Given the description of an element on the screen output the (x, y) to click on. 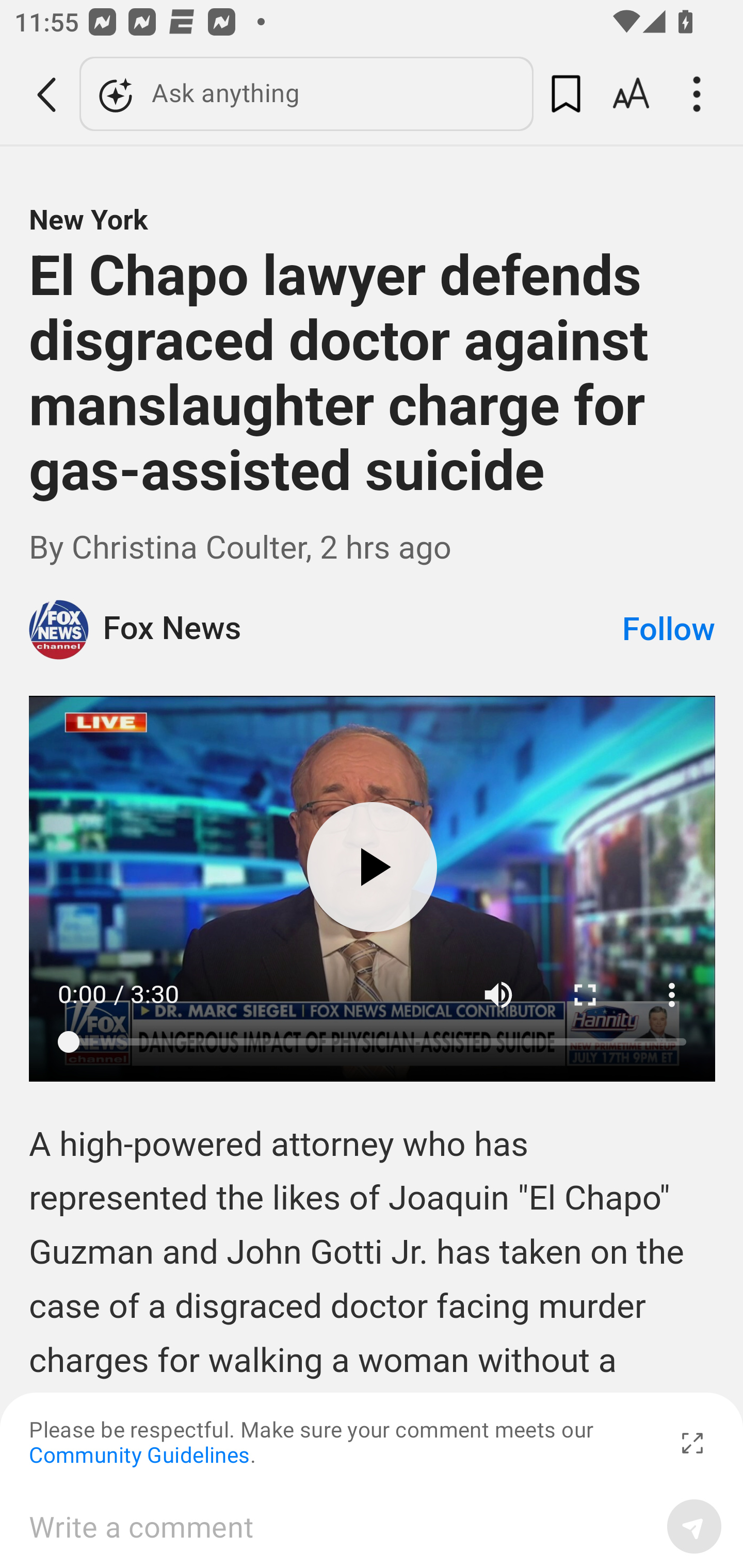
Write a comment (340, 1526)
